Given the description of an element on the screen output the (x, y) to click on. 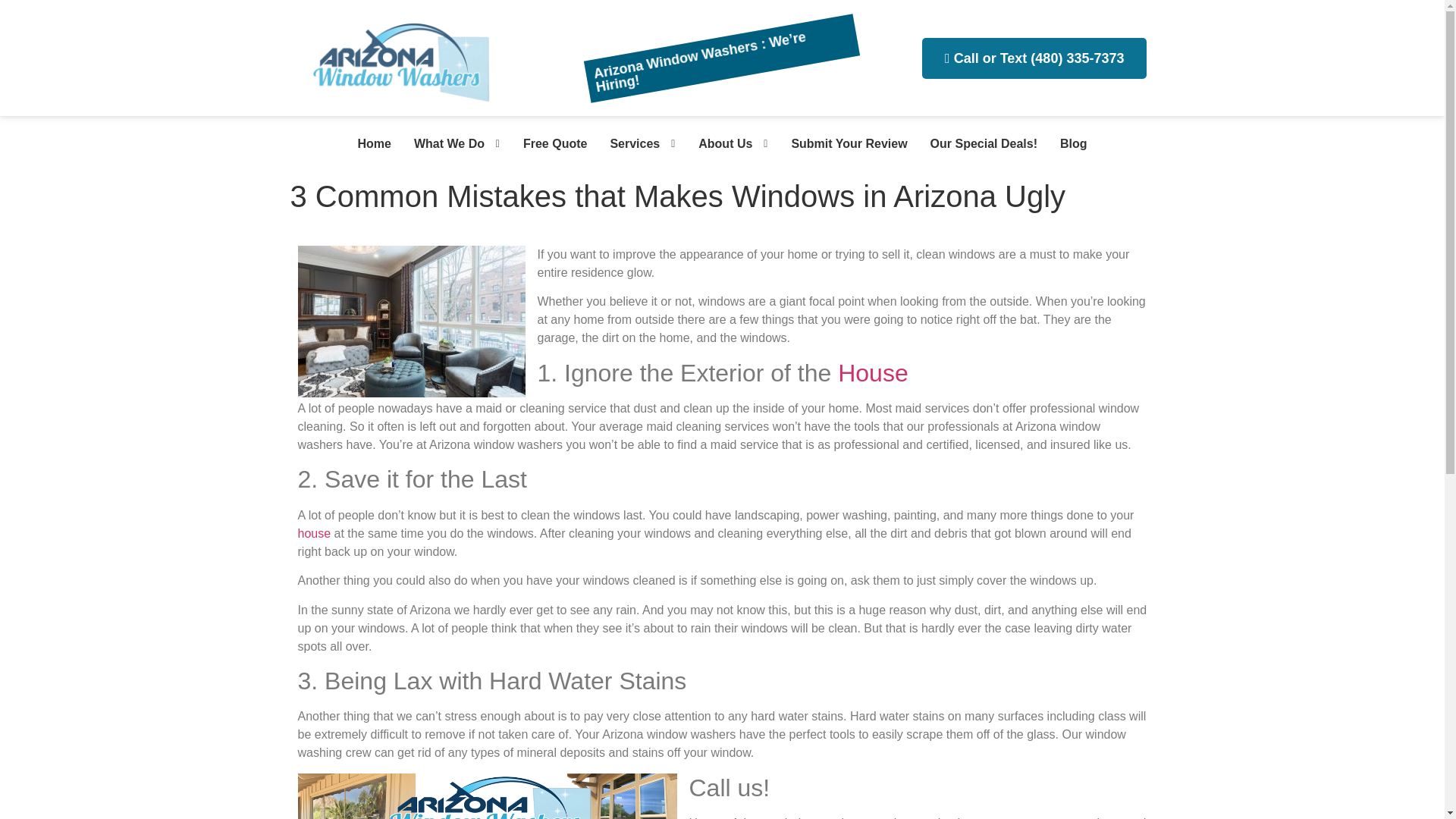
Our Special Deals! (977, 143)
Free Quote (549, 143)
Home (368, 143)
What We Do (444, 143)
Blog (1067, 143)
Window Washers Near by (368, 143)
Please post your review about our services (842, 143)
House (873, 372)
Services (629, 143)
Submit Your Review (842, 143)
house (313, 533)
Window Cleaning  (549, 143)
About Us (720, 143)
About Arizona Window Washers (720, 143)
